Given the description of an element on the screen output the (x, y) to click on. 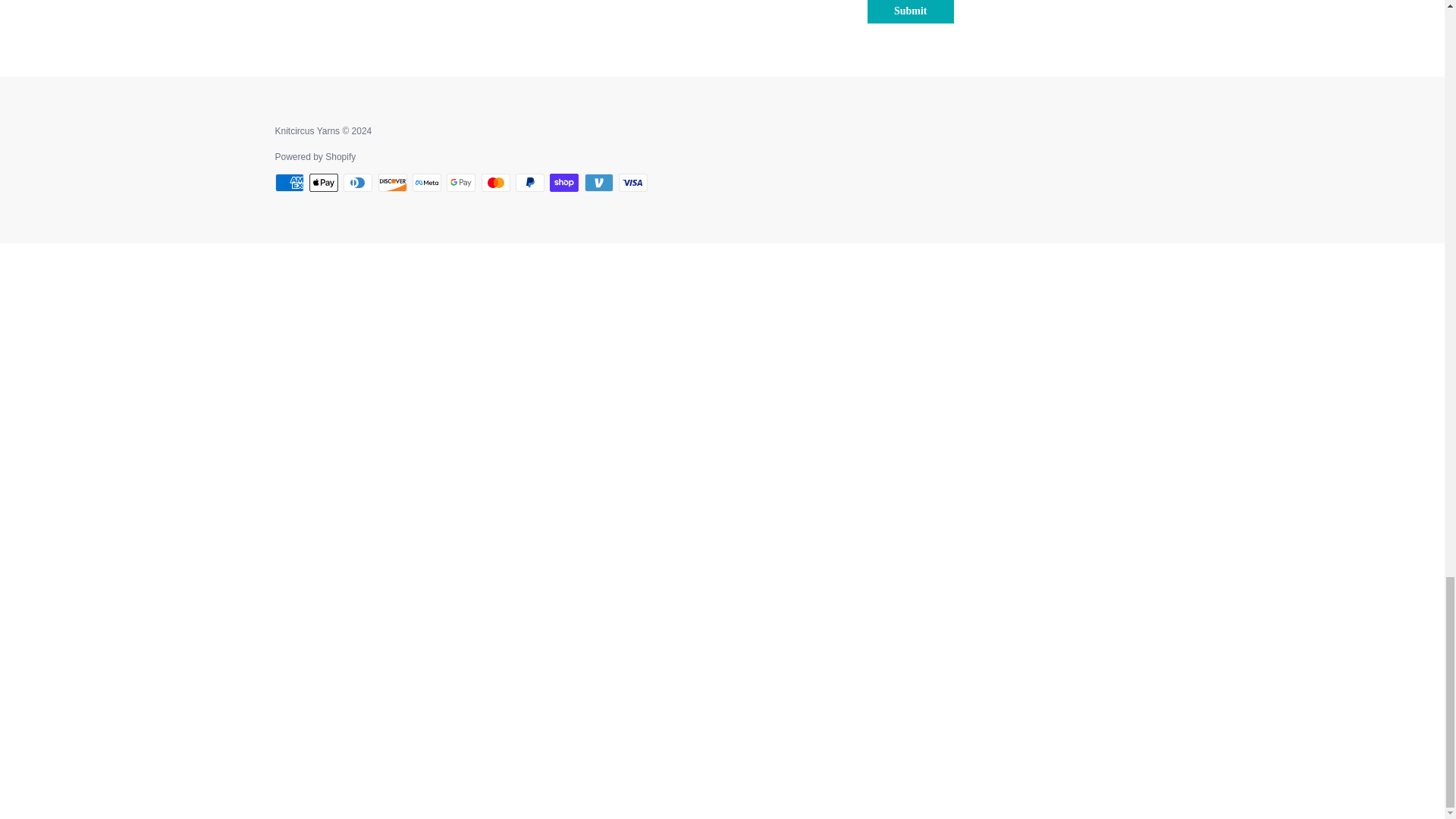
PayPal (529, 182)
Diners Club (357, 182)
Shop Pay (564, 182)
Mastercard (496, 182)
Meta Pay (426, 182)
Google Pay (461, 182)
Discover (392, 182)
Apple Pay (322, 182)
Visa (632, 182)
Venmo (598, 182)
